Given the description of an element on the screen output the (x, y) to click on. 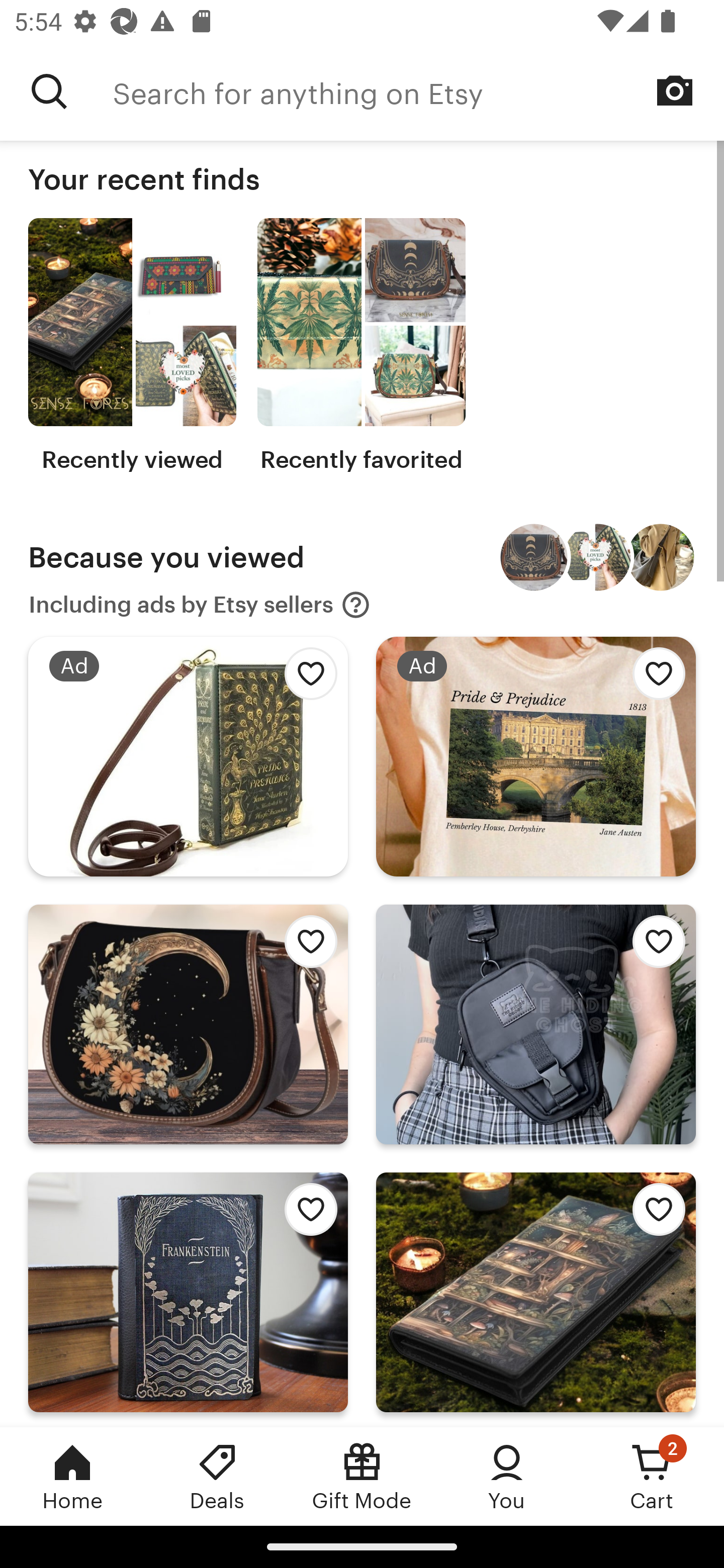
Search for anything on Etsy (49, 91)
Search by image (674, 90)
Search for anything on Etsy (418, 91)
Recently viewed (132, 345)
Recently favorited (361, 345)
Including ads by Etsy sellers (199, 604)
Deals (216, 1475)
Gift Mode (361, 1475)
You (506, 1475)
Cart, 2 new notifications Cart (651, 1475)
